Given the description of an element on the screen output the (x, y) to click on. 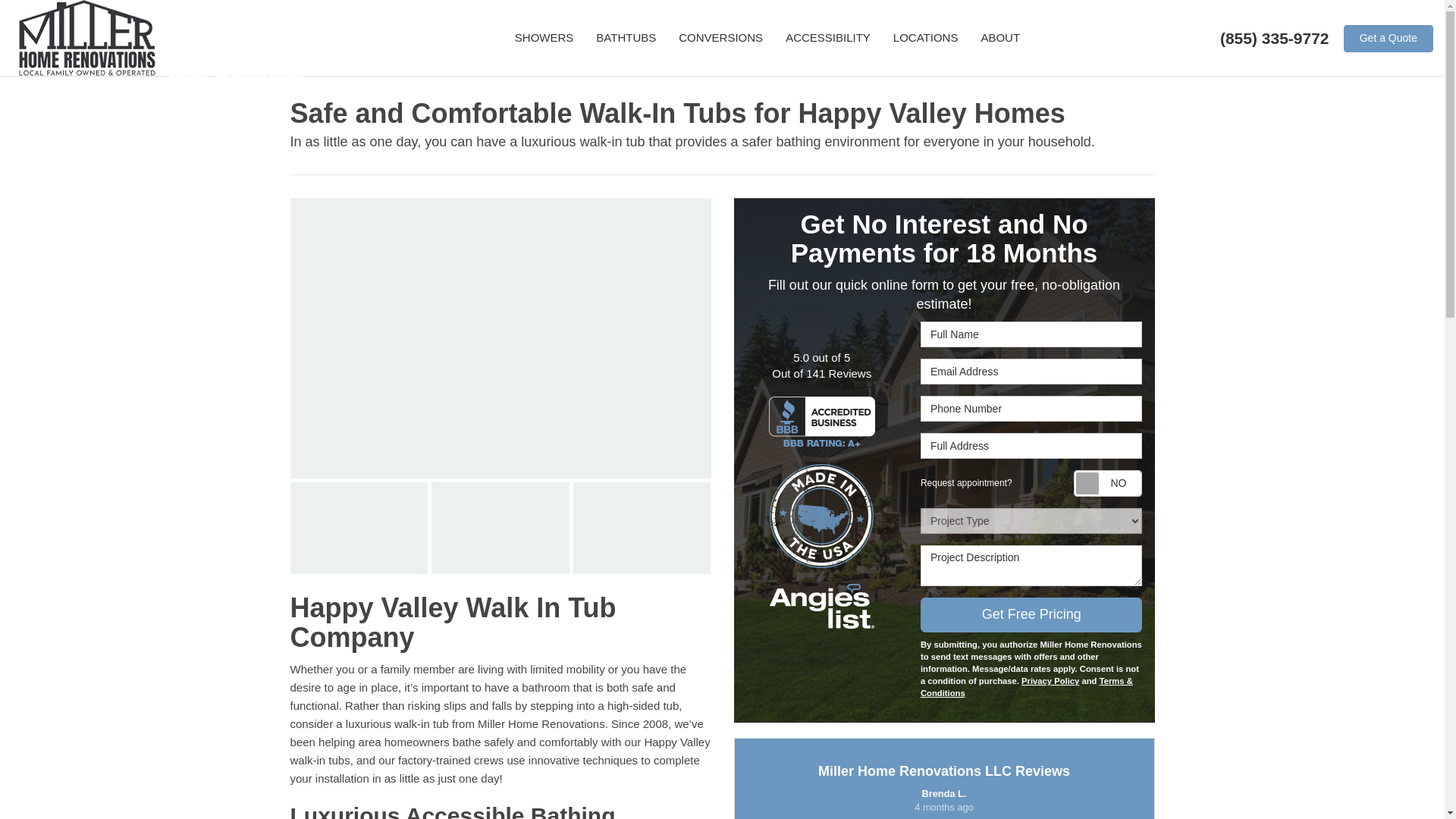
Get a Quote (1387, 38)
LOCATIONS (925, 38)
SHOWERS (544, 38)
BATHTUBS (625, 38)
Get a Quote (1387, 38)
CONVERSIONS (720, 38)
ACCESSIBILITY (828, 38)
